Given the description of an element on the screen output the (x, y) to click on. 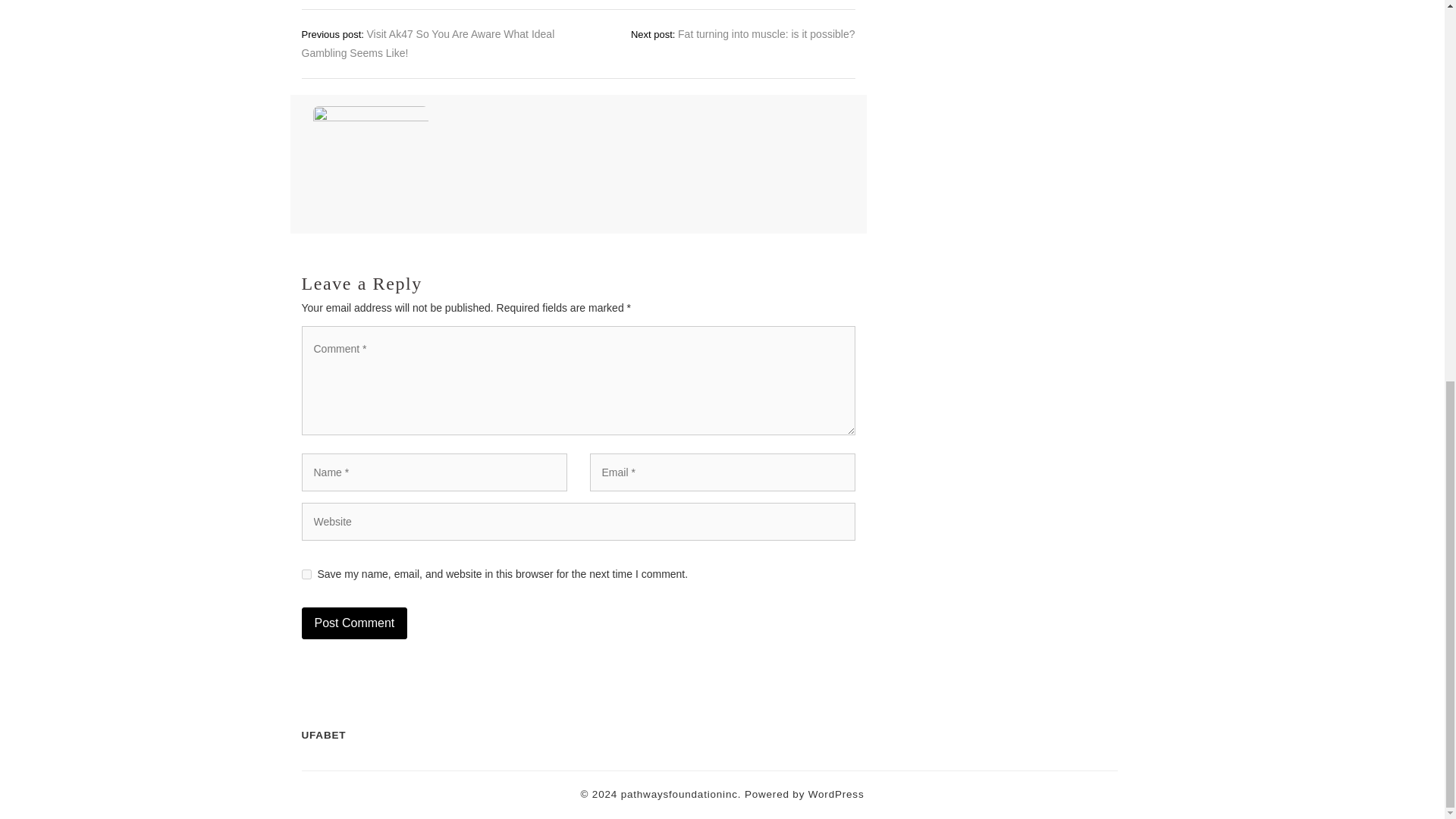
Post Comment (354, 623)
pathwaysfoundationinc. (681, 793)
Post Comment (354, 623)
yes (306, 574)
Next post: Fat turning into muscle: is it possible? (743, 34)
Powered by WordPress (804, 793)
UFABET (323, 734)
